Given the description of an element on the screen output the (x, y) to click on. 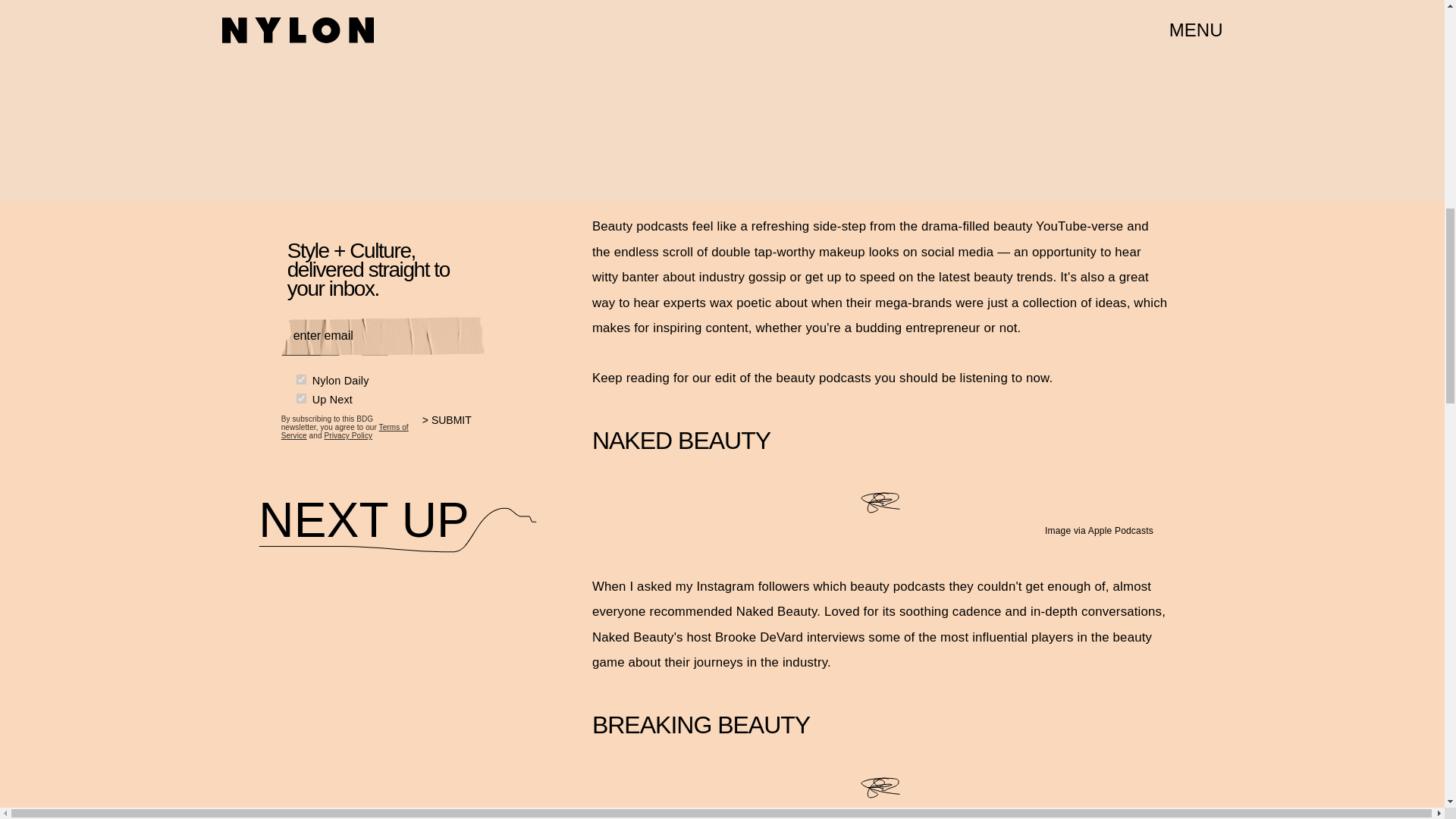
Terms of Service (345, 428)
SUBMIT (453, 425)
Privacy Policy (347, 433)
